Given the description of an element on the screen output the (x, y) to click on. 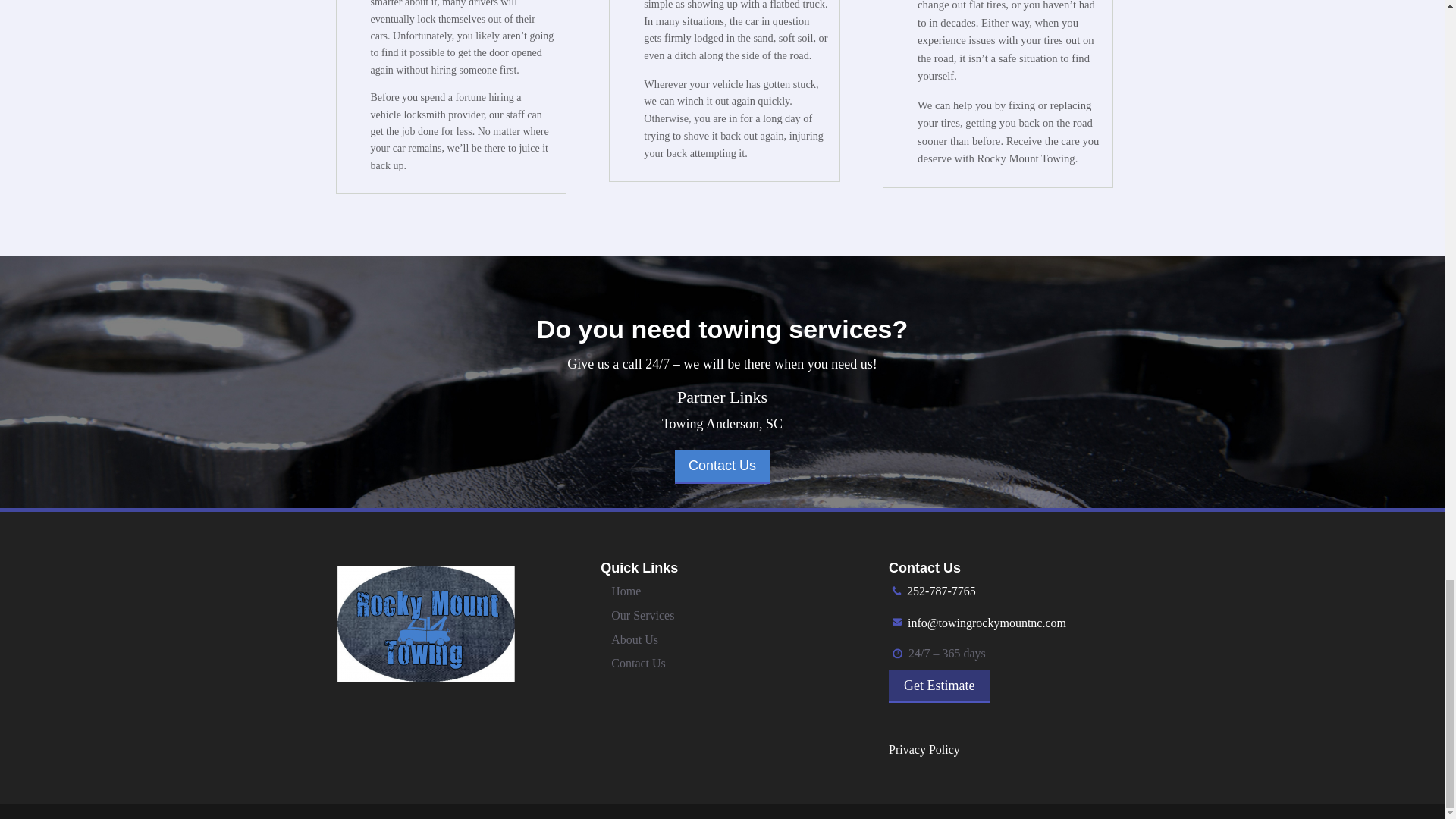
252-787-7765 (941, 591)
Contact Us (722, 467)
Home (625, 590)
Contact Us (638, 662)
Our Services (642, 615)
About Us (634, 639)
Privacy Policy (923, 748)
Towing Anderson, SC (722, 423)
Get Estimate (939, 686)
